Given the description of an element on the screen output the (x, y) to click on. 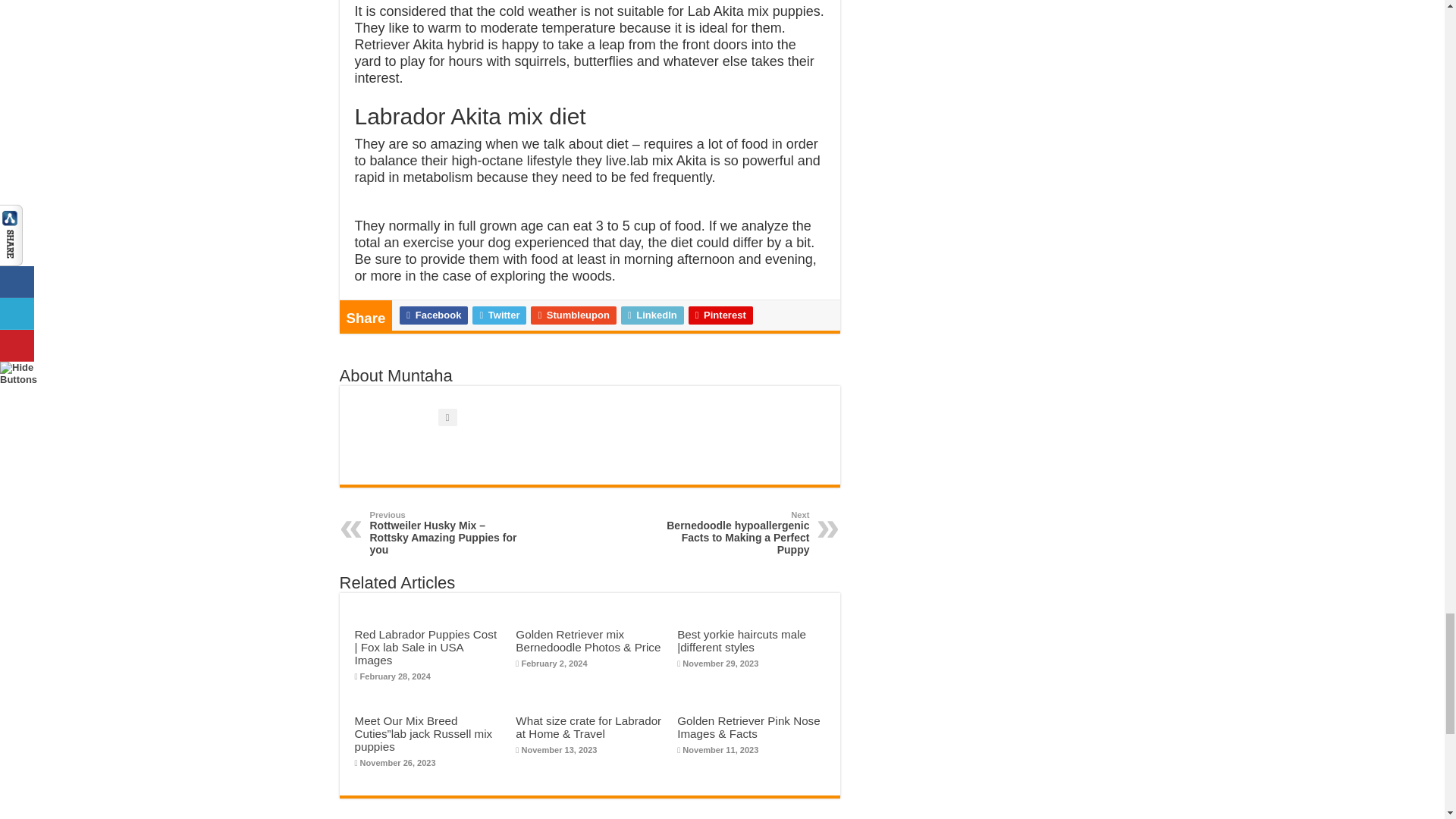
Pinterest (720, 315)
LinkedIn (652, 315)
Stumbleupon (573, 315)
Twitter (498, 315)
Facebook (432, 315)
